Given the description of an element on the screen output the (x, y) to click on. 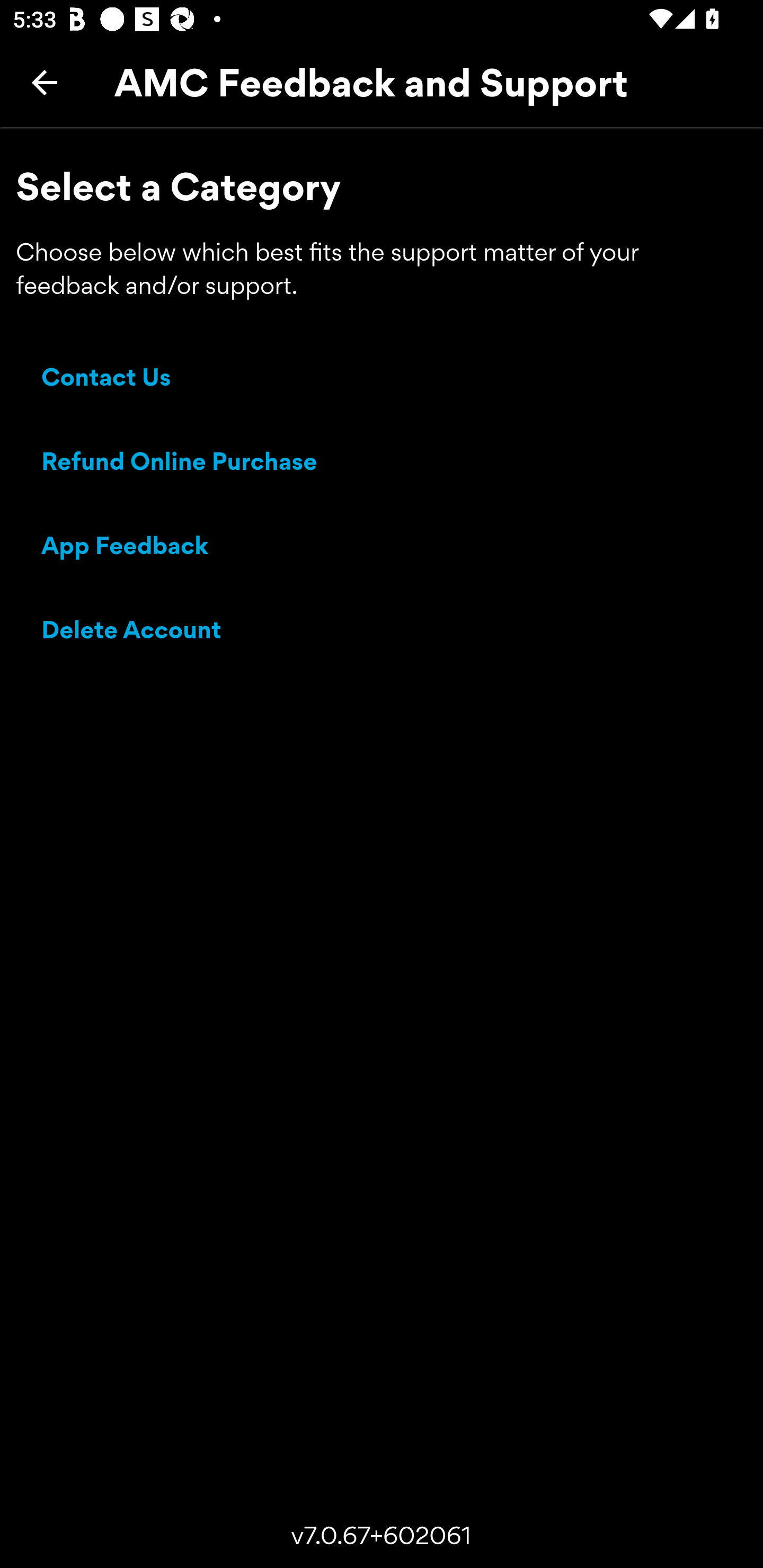
Back (44, 82)
Contact Us (106, 379)
Refund Online Purchase (179, 463)
App Feedback (125, 547)
Delete Account (131, 632)
